Given the description of an element on the screen output the (x, y) to click on. 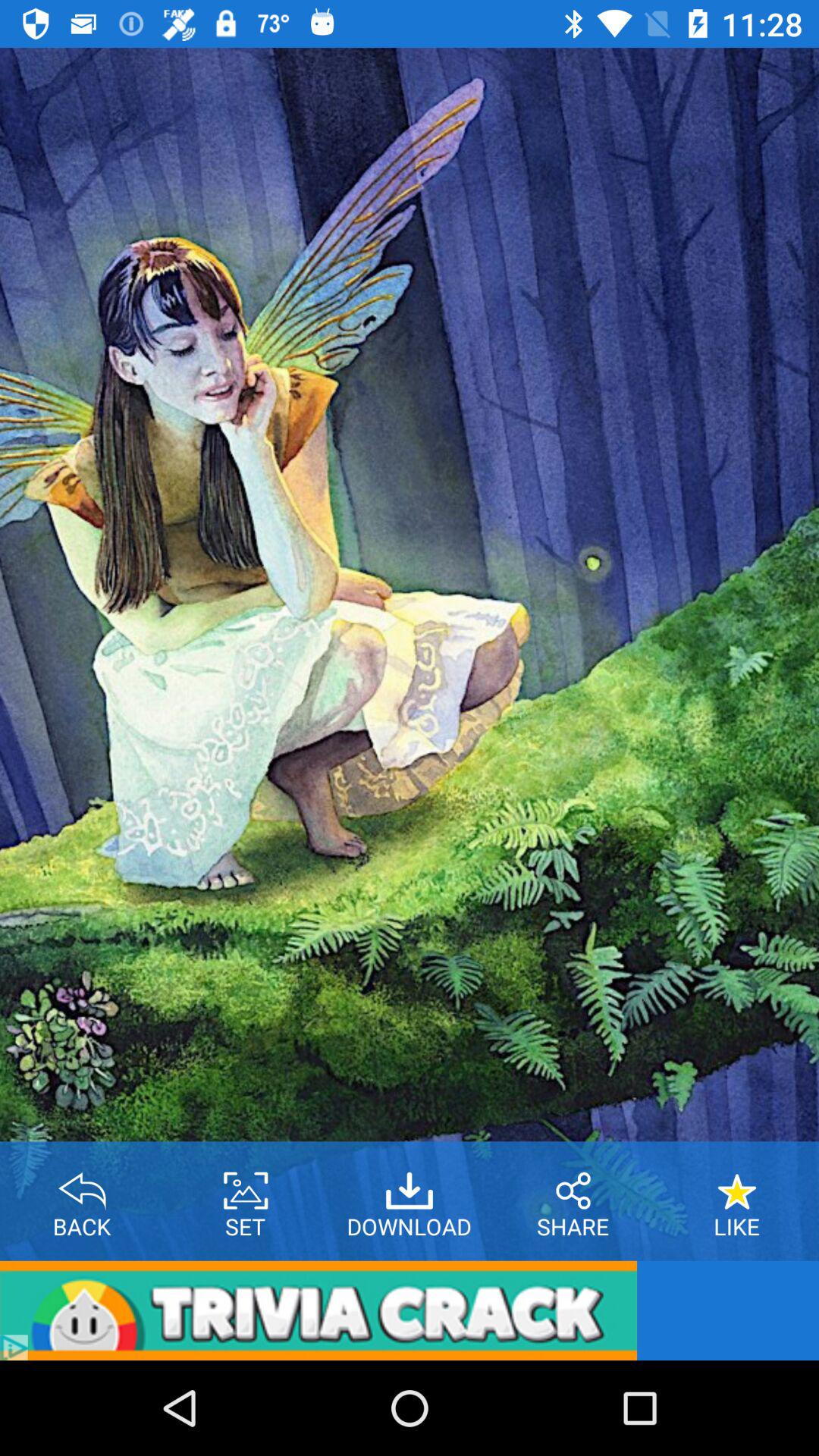
like photo (737, 1185)
